Given the description of an element on the screen output the (x, y) to click on. 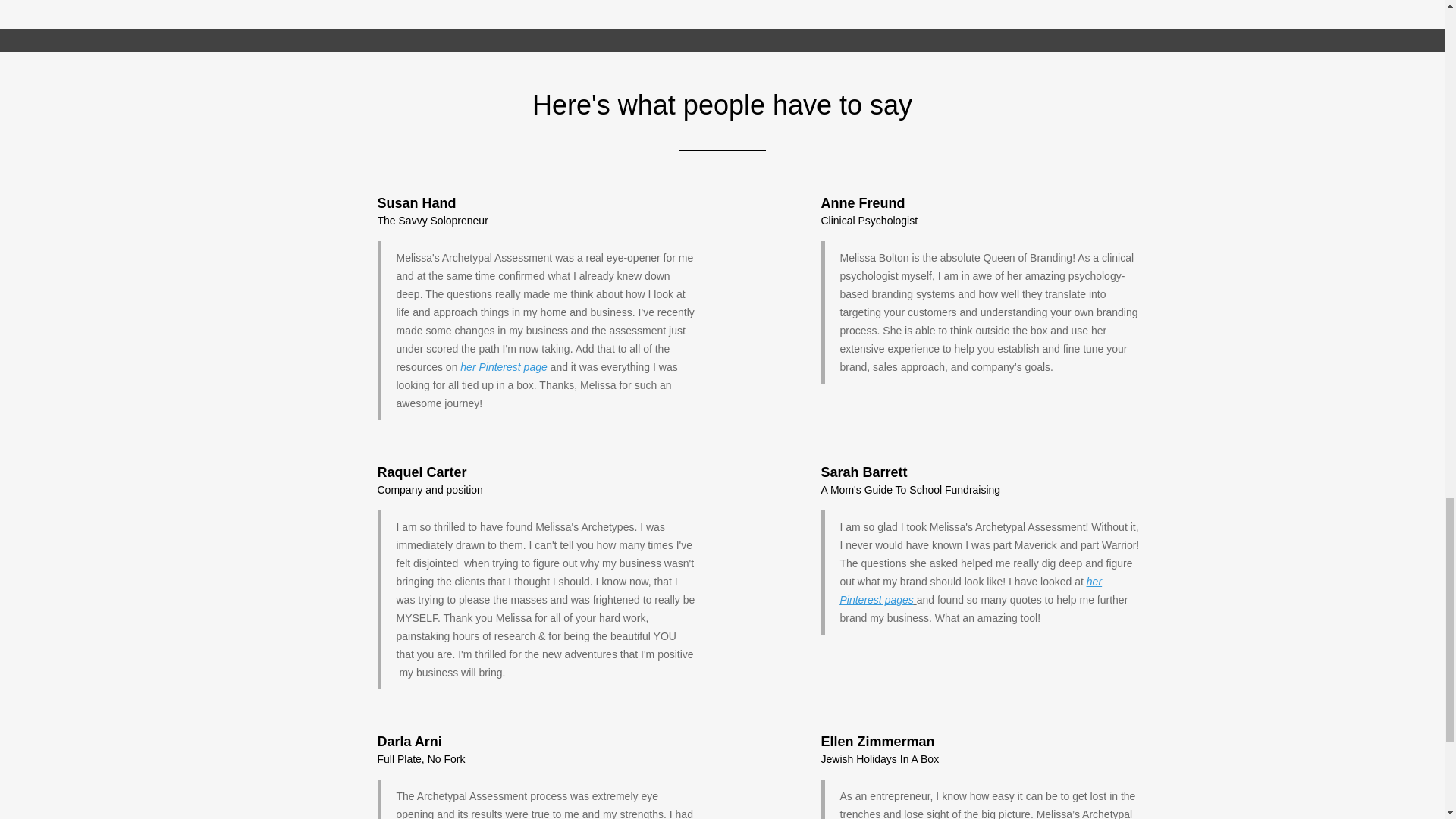
her Pinterest page (503, 367)
her Pinterest pages (971, 590)
Pindiana Jones (971, 590)
Pindiana Jones! (503, 367)
